Given the description of an element on the screen output the (x, y) to click on. 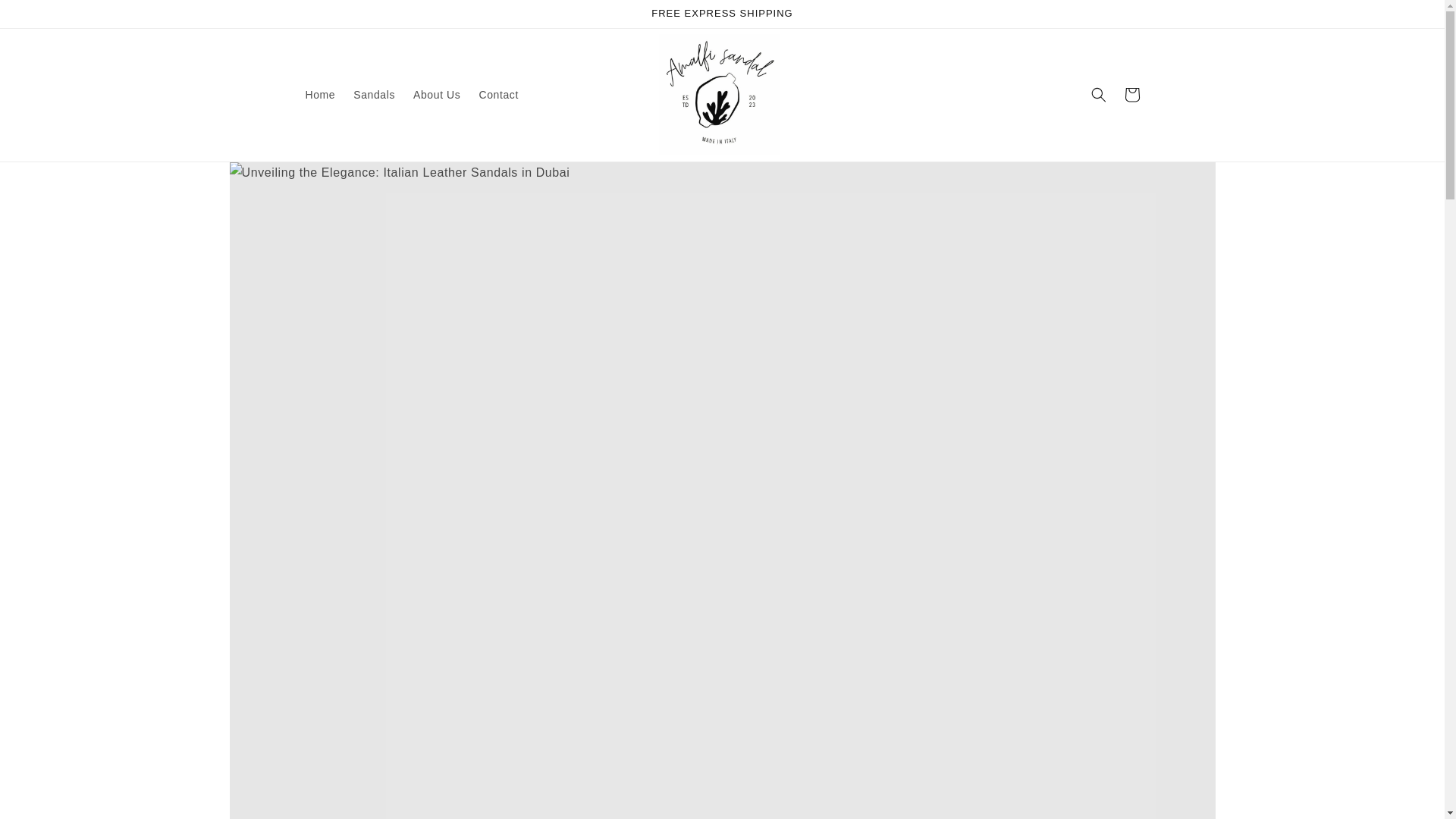
Contact (497, 94)
Cart (1131, 94)
Home (319, 94)
Sandals (373, 94)
About Us (436, 94)
Skip to content (45, 17)
